Given the description of an element on the screen output the (x, y) to click on. 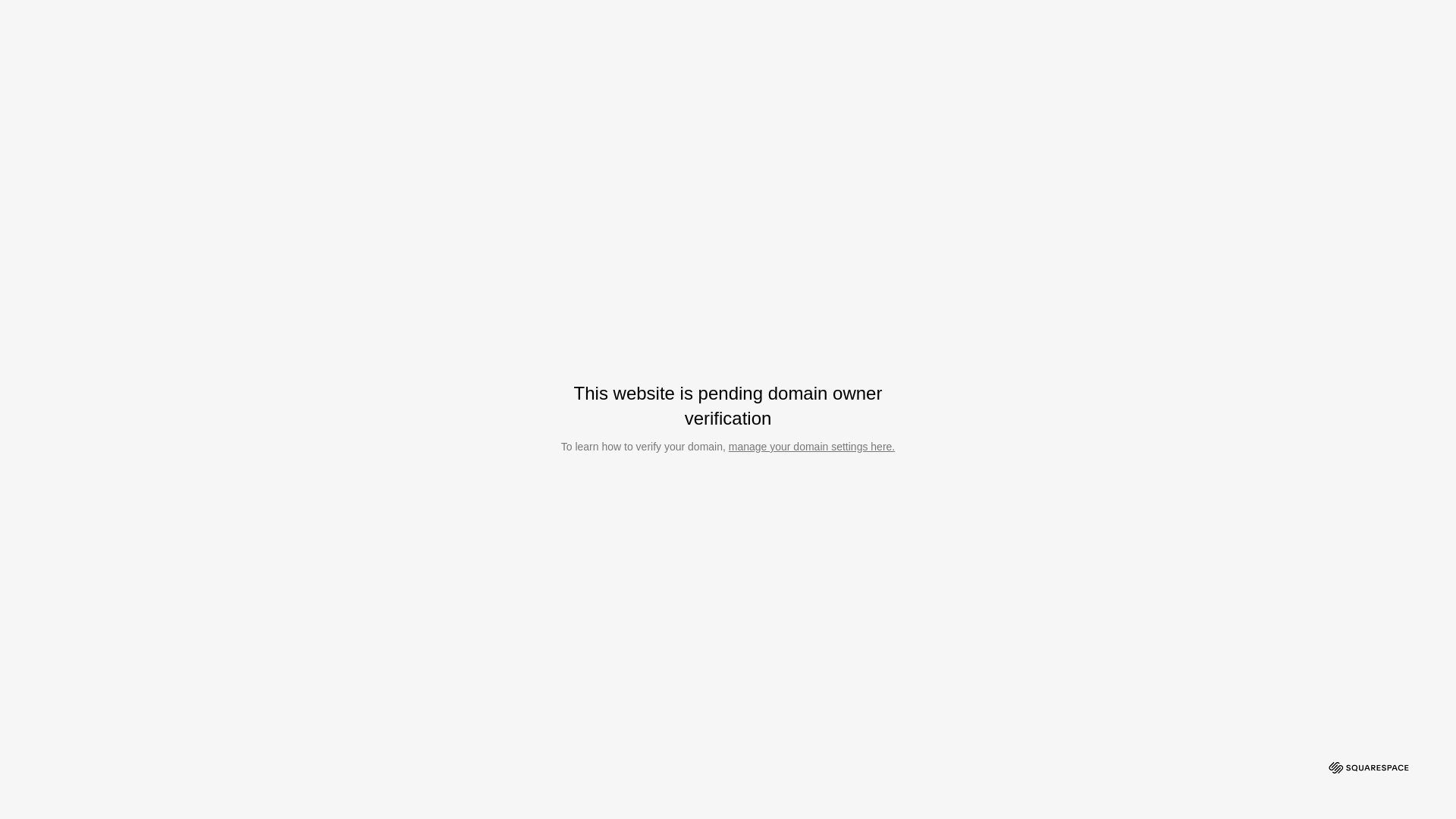
manage your domain settings here. Element type: text (811, 446)
